Given the description of an element on the screen output the (x, y) to click on. 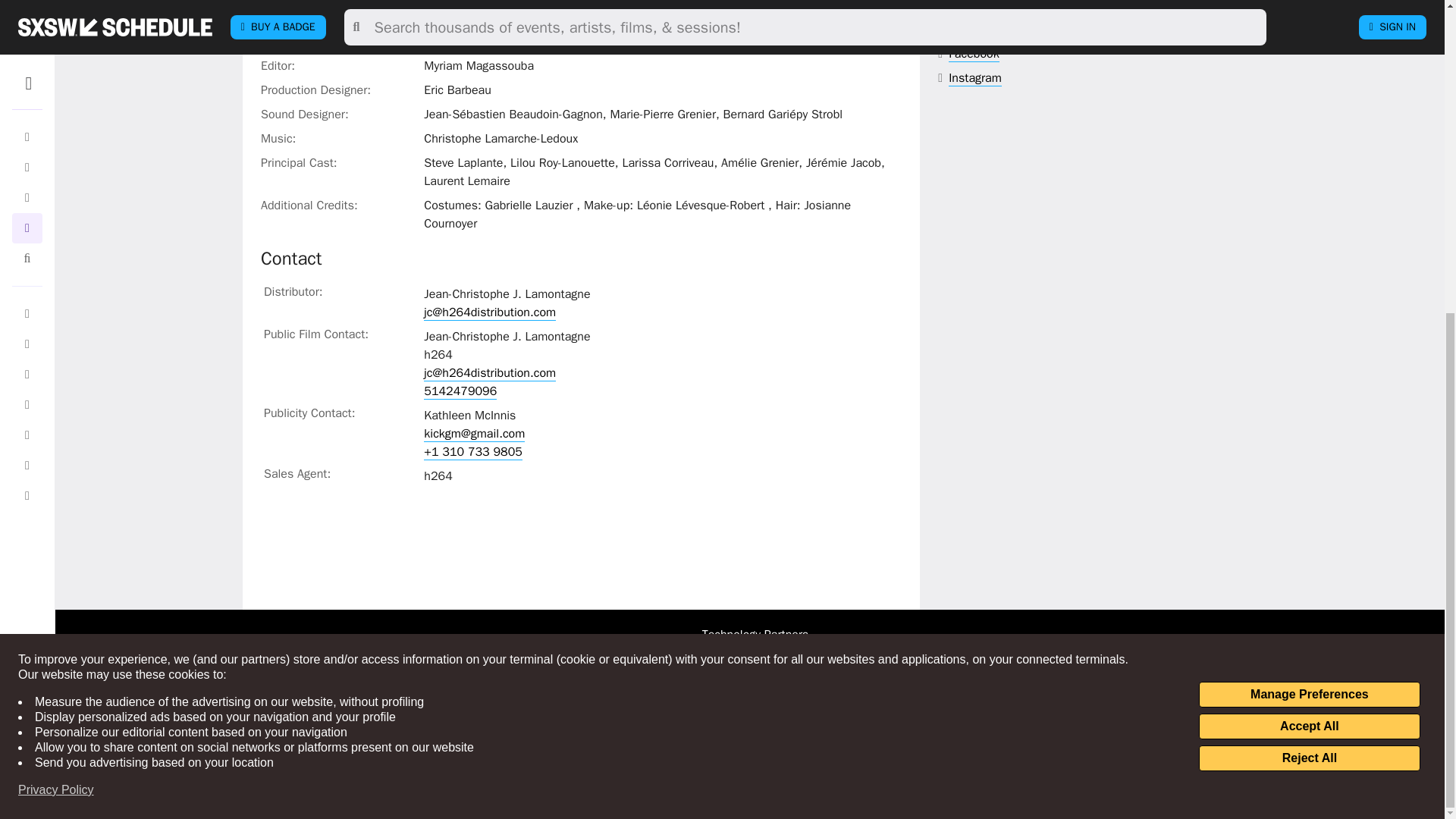
instagram (975, 78)
facebook (973, 53)
Accept All (1309, 225)
website (989, 29)
Reject All (1309, 257)
Manage Preferences (1309, 193)
Privacy Policy (55, 289)
